Given the description of an element on the screen output the (x, y) to click on. 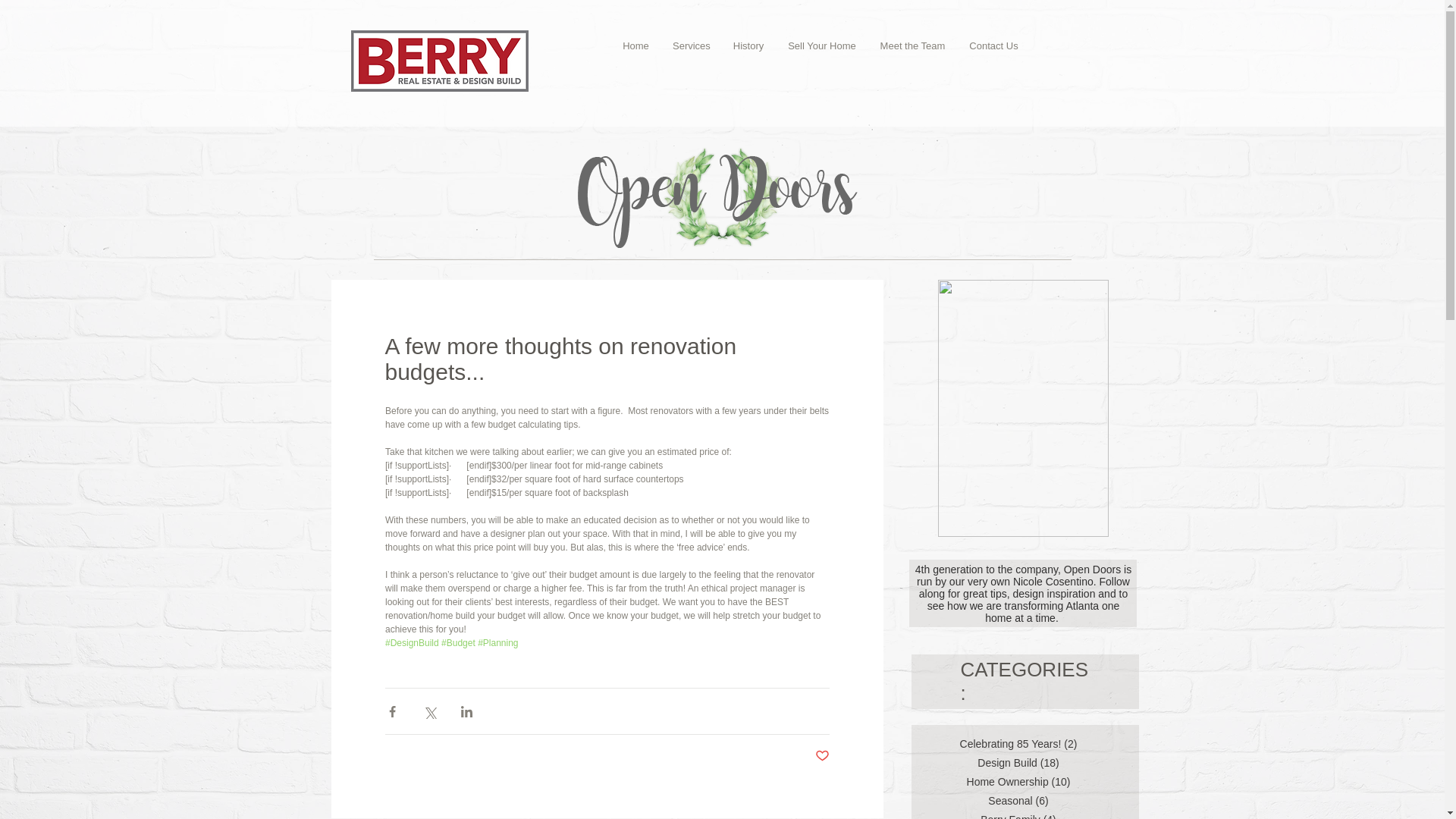
Post not marked as liked (820, 756)
History (748, 46)
Contact Us (993, 46)
Meet the Team (912, 46)
Sell Your Home (821, 46)
Services (690, 46)
Home (635, 46)
